Given the description of an element on the screen output the (x, y) to click on. 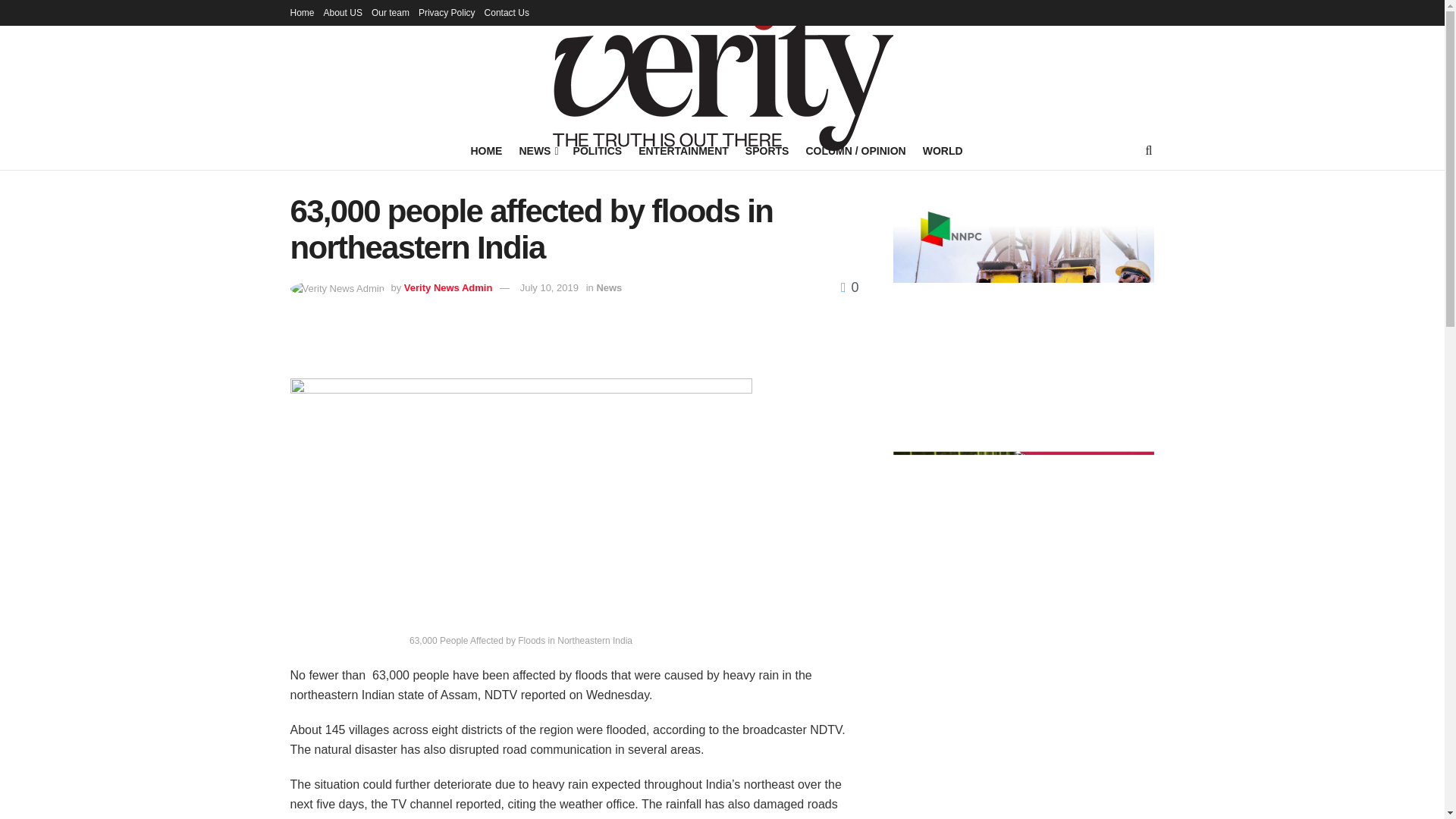
Home (301, 12)
News (608, 287)
Our team (390, 12)
HOME (486, 150)
SPORTS (767, 150)
About US (342, 12)
WORLD (942, 150)
NEWS (537, 150)
POLITICS (598, 150)
Contact Us (506, 12)
Privacy Policy (447, 12)
0 (850, 287)
ENTERTAINMENT (684, 150)
July 10, 2019 (548, 287)
Verity News Admin (448, 287)
